Given the description of an element on the screen output the (x, y) to click on. 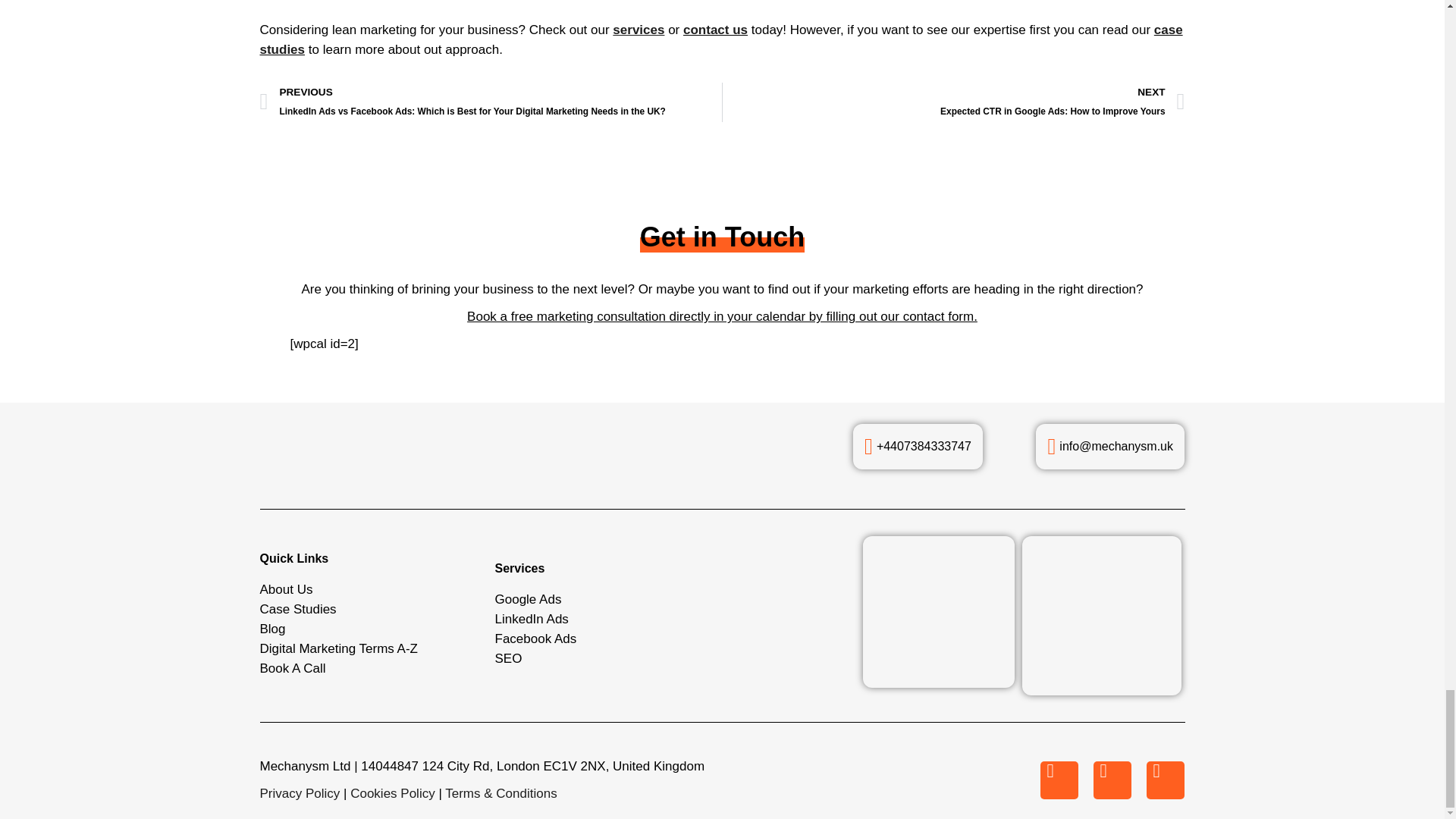
Meta certification (938, 611)
Cim (1101, 615)
